Given the description of an element on the screen output the (x, y) to click on. 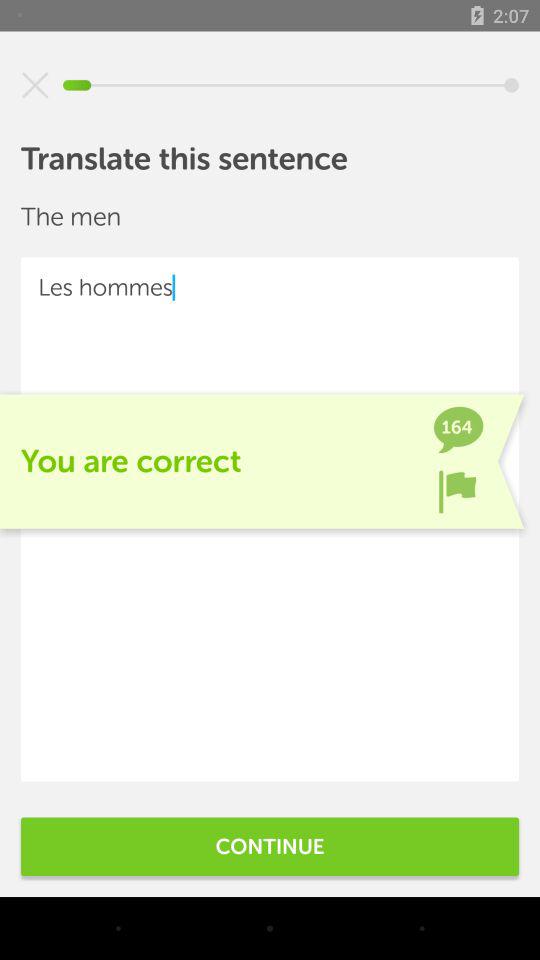
launch item next to the you are correct icon (457, 491)
